Given the description of an element on the screen output the (x, y) to click on. 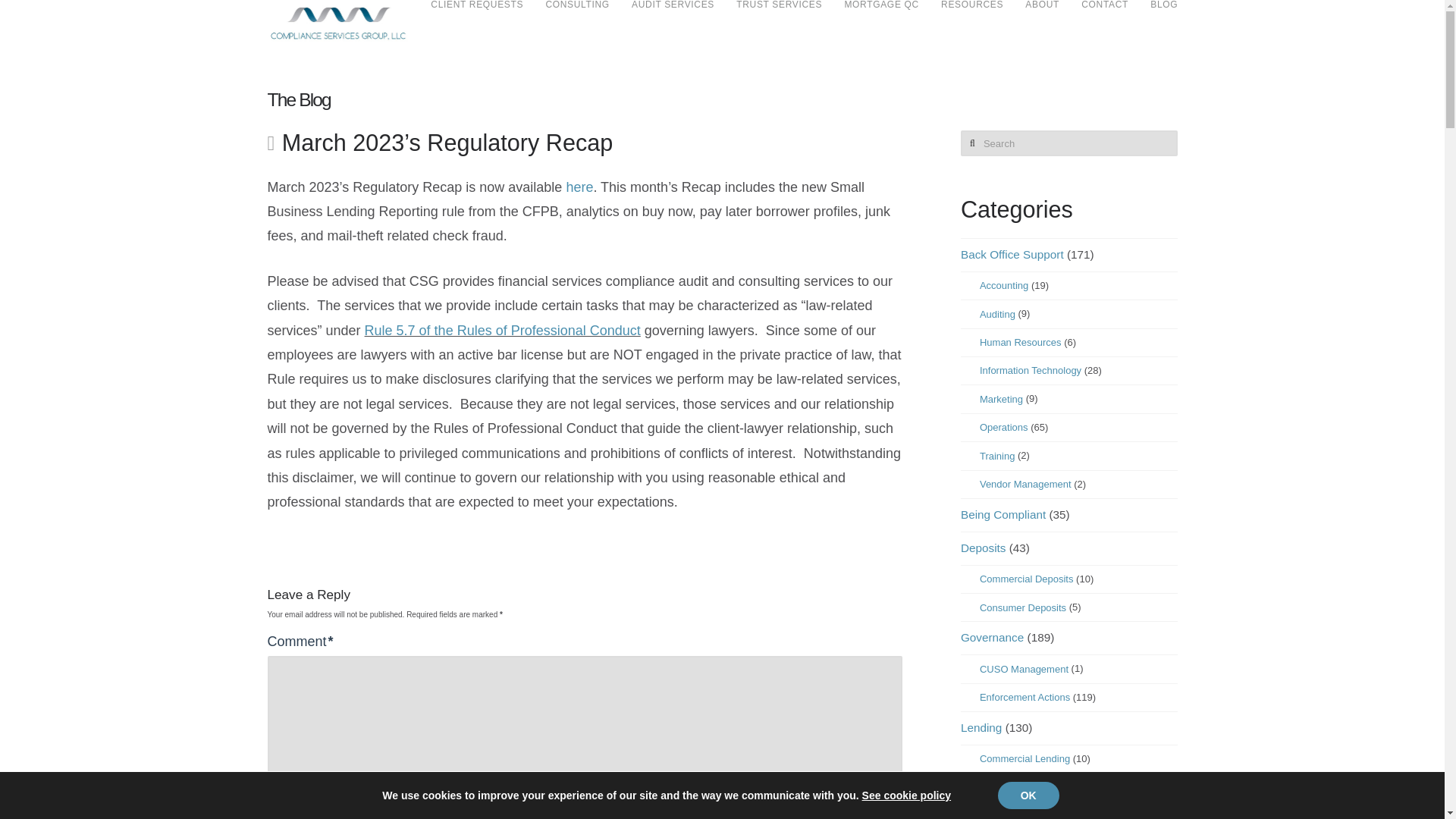
CONSULTING (577, 22)
Information Technology (1030, 370)
Operations (1003, 427)
TRUST SERVICES (778, 22)
Deposits (983, 548)
here (579, 186)
Consumer Deposits (1022, 607)
CUSO Management (1023, 669)
MORTGAGE QC (881, 22)
CONTACT (1104, 22)
Vendor Management (1025, 484)
Training (996, 456)
BLOG (1157, 22)
CLIENT REQUESTS (476, 22)
AUDIT SERVICES (672, 22)
